Given the description of an element on the screen output the (x, y) to click on. 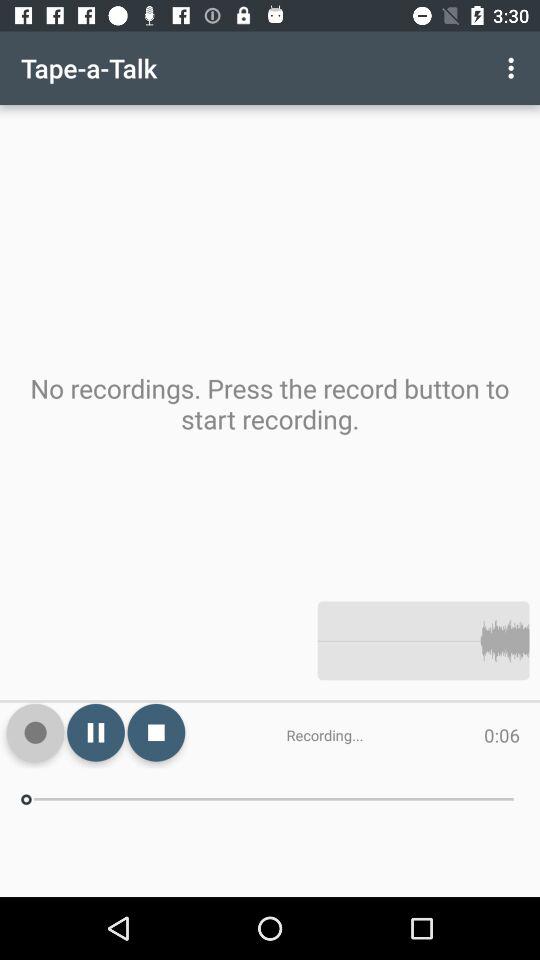
select item at the top right corner (513, 67)
